Given the description of an element on the screen output the (x, y) to click on. 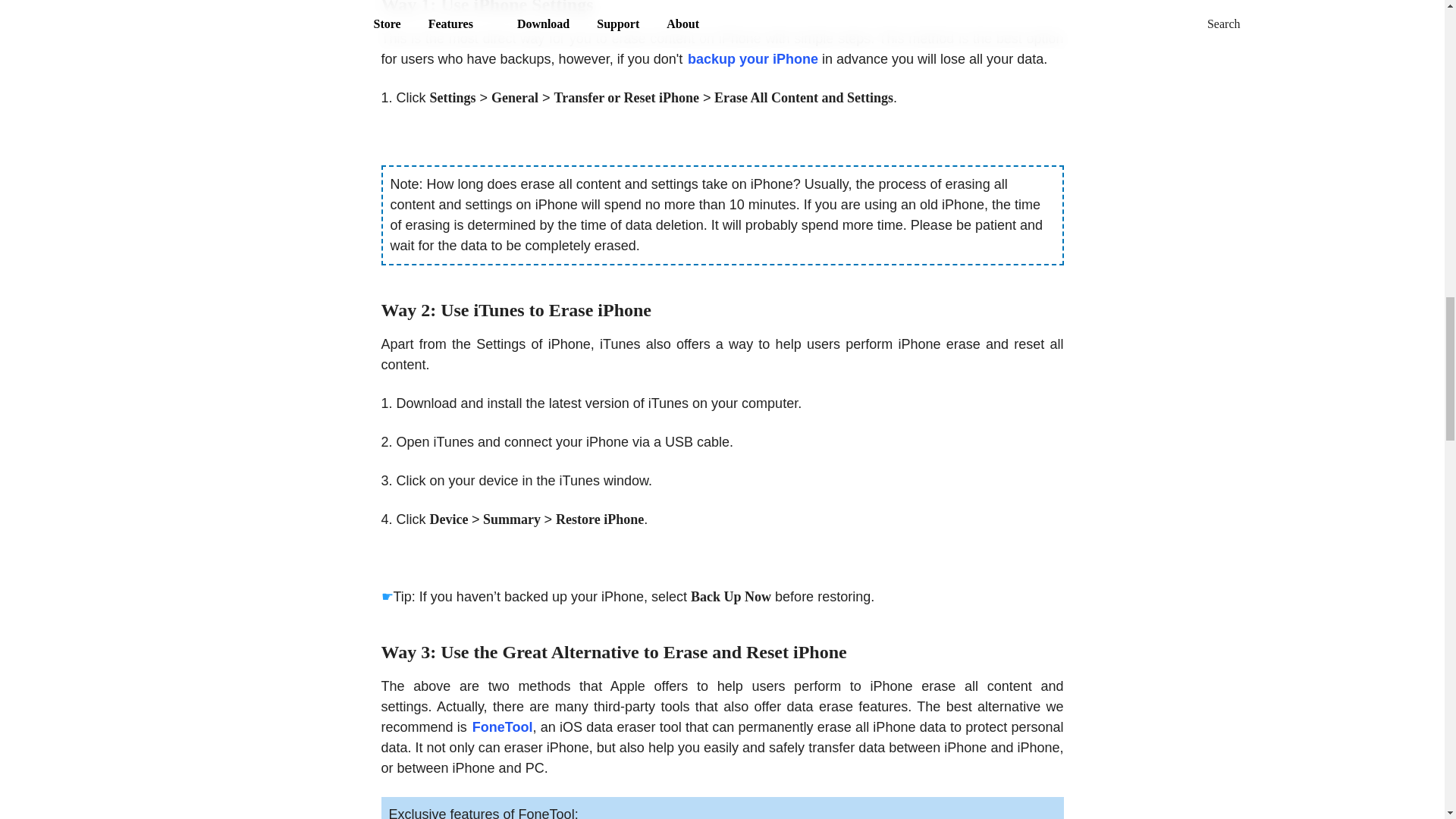
FoneTool (501, 727)
backup your iPhone (752, 59)
